Given the description of an element on the screen output the (x, y) to click on. 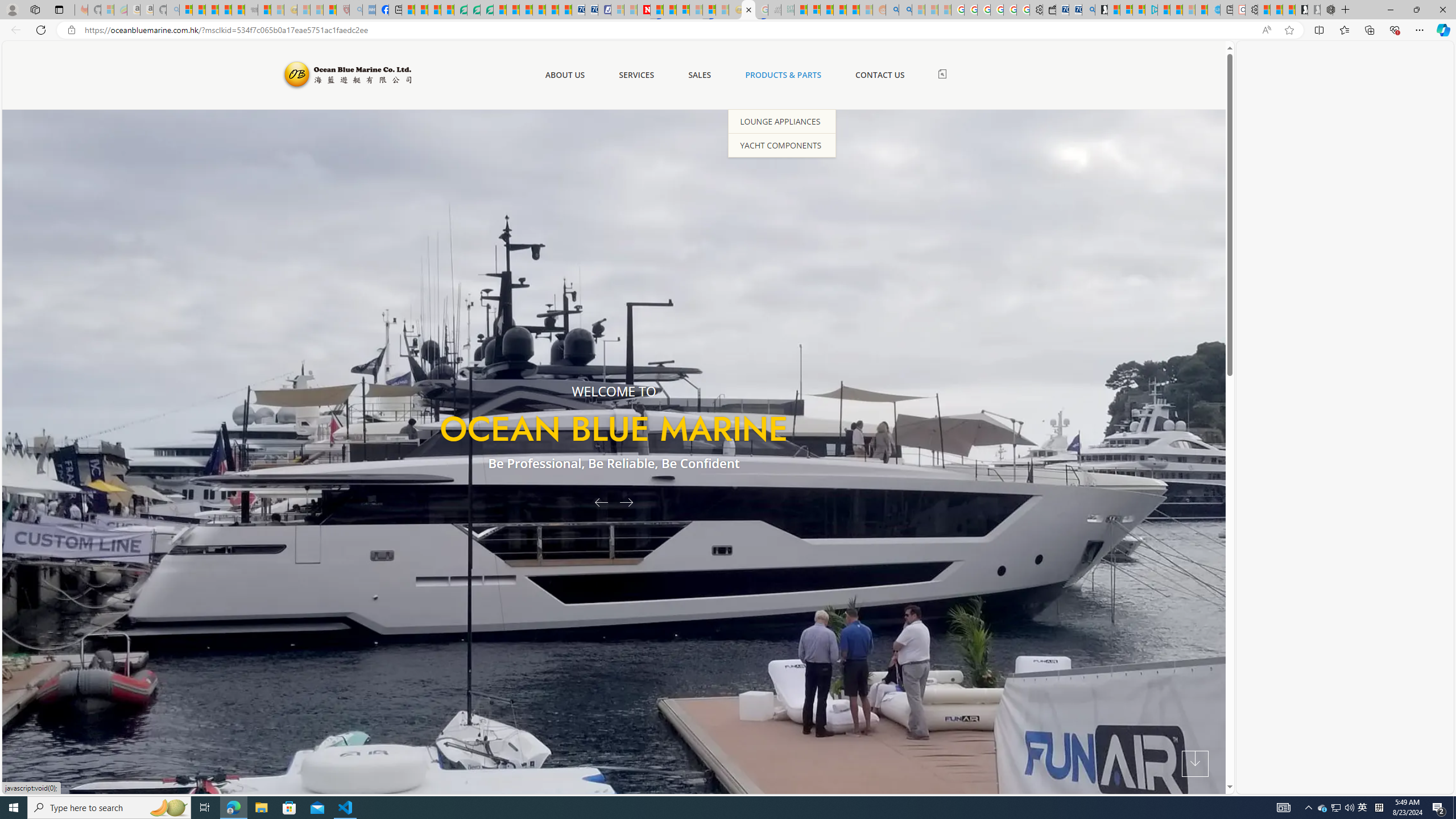
Combat Siege (251, 9)
Latest Politics News & Archive | Newsweek.com (643, 9)
MSNBC - MSN (800, 9)
Wallet (1049, 9)
ABOUT US (564, 75)
Trusted Community Engagement and Contributions | Guidelines (656, 9)
Student Loan Update: Forgiveness Program Ends This Month (852, 9)
Cheap Car Rentals - Save70.com (1075, 9)
LOUNGE APPLIANCES (781, 120)
Navy Quest (774, 9)
